Given the description of an element on the screen output the (x, y) to click on. 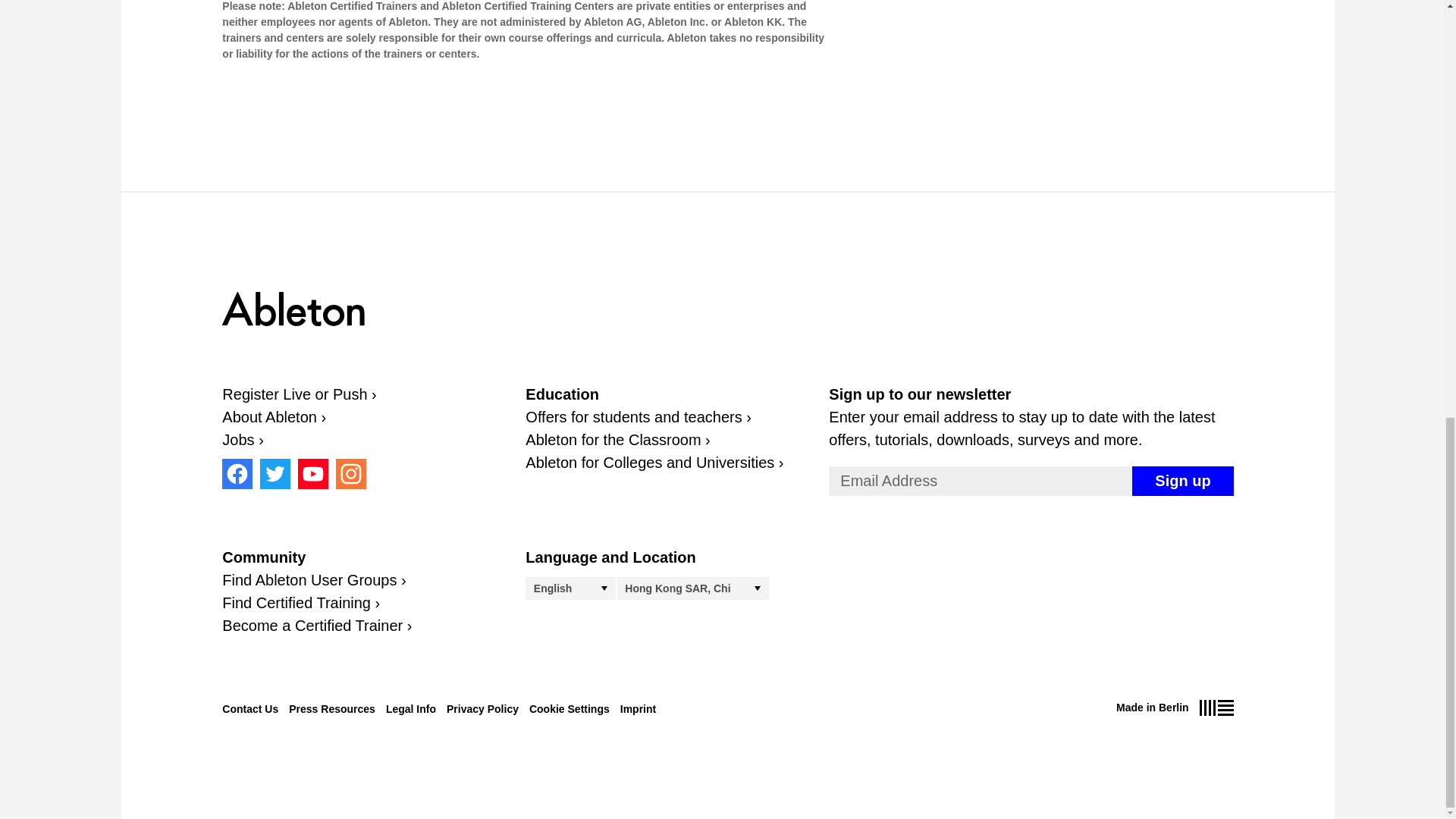
Sign up (1182, 481)
Ableton Facebook (236, 473)
Jobs (242, 439)
Ableton Twitter (274, 473)
Register Live or Push (298, 393)
Sign up (1182, 481)
About Ableton (274, 416)
